Given the description of an element on the screen output the (x, y) to click on. 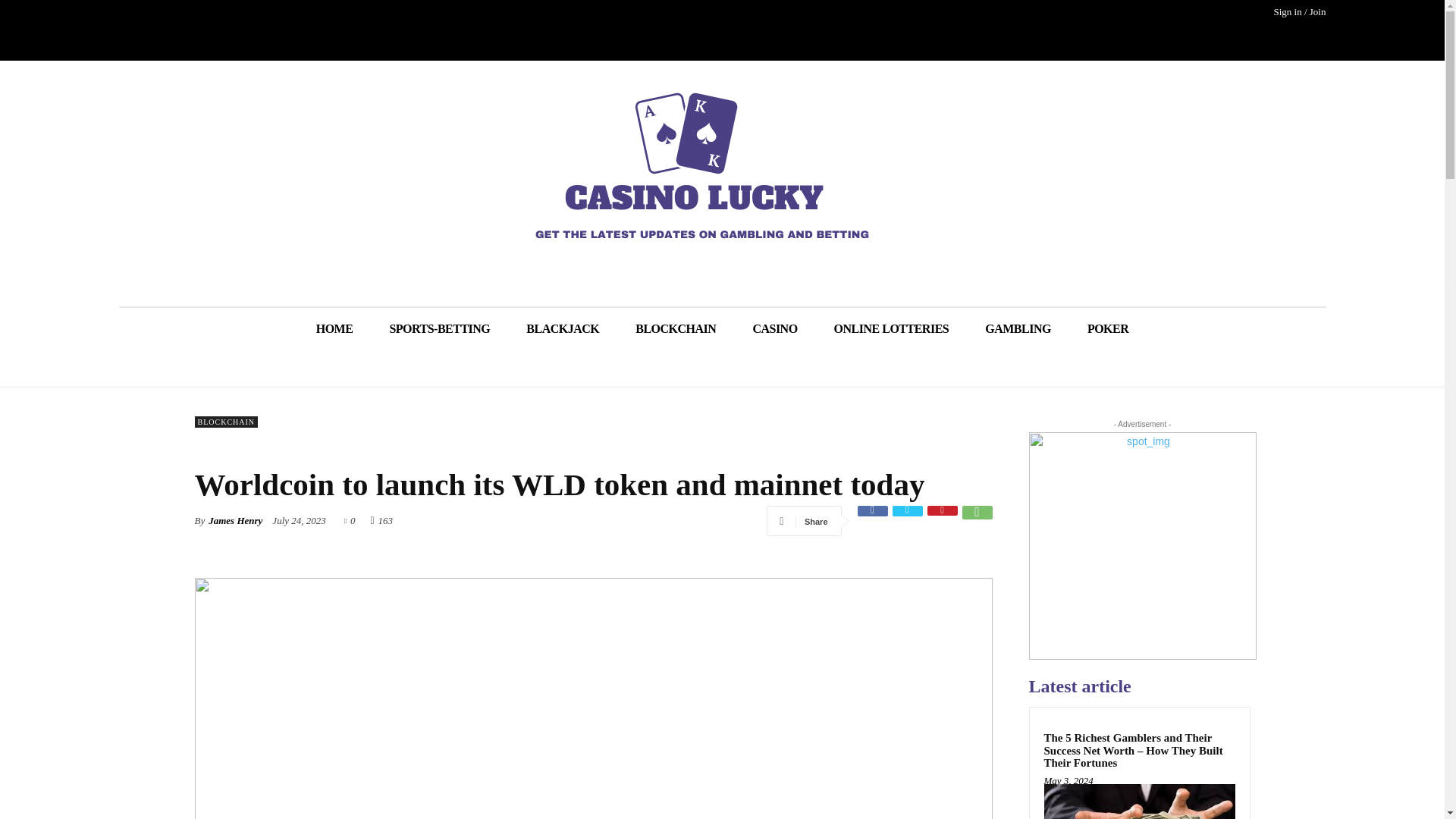
Favicon - Casino Lucky (721, 165)
Favicon - Casino Lucky (704, 165)
WhatsApp (975, 521)
Facebook (871, 521)
Pinterest (941, 521)
Twitter (906, 521)
